Given the description of an element on the screen output the (x, y) to click on. 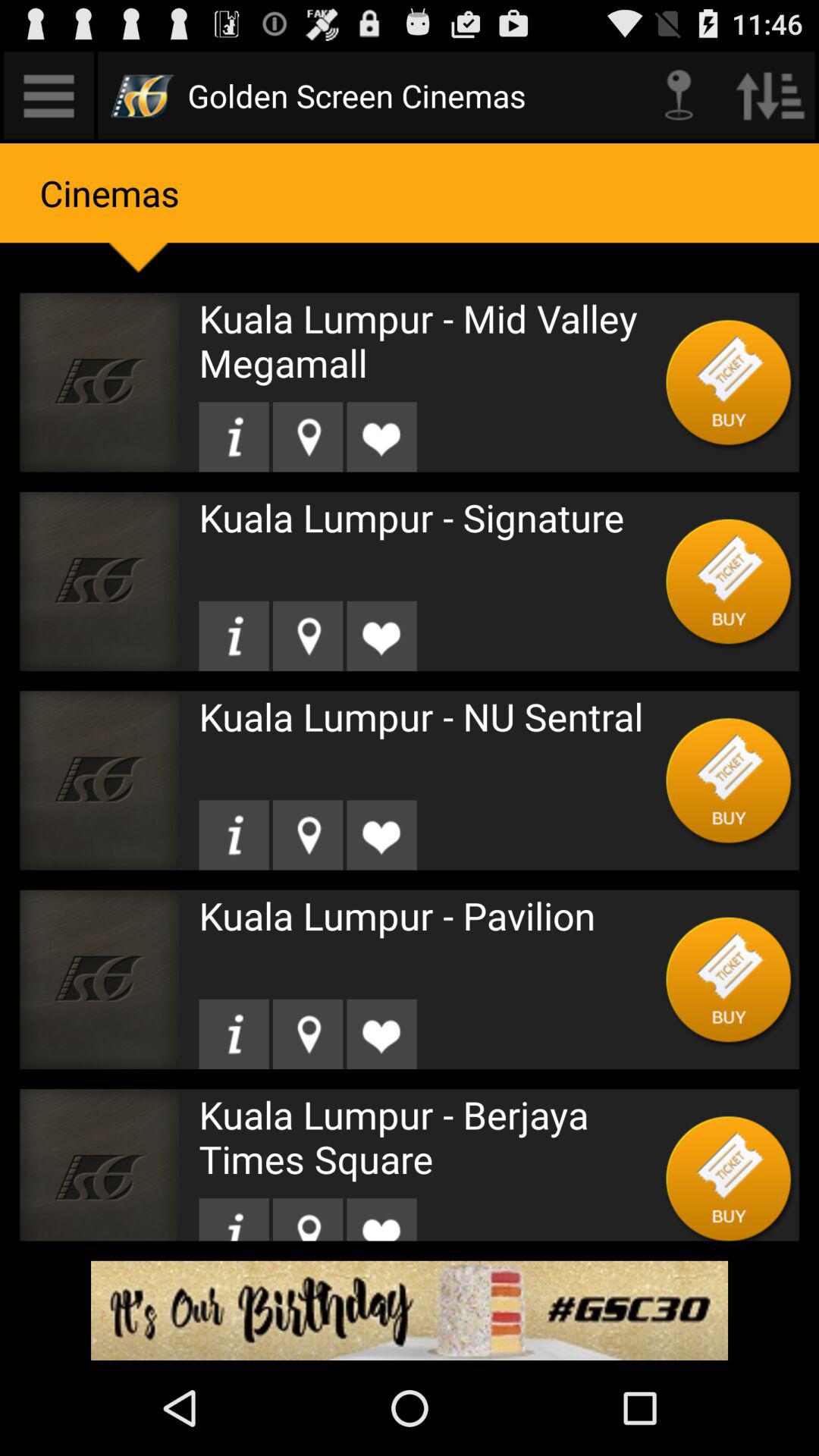
like this option (381, 636)
